Given the description of an element on the screen output the (x, y) to click on. 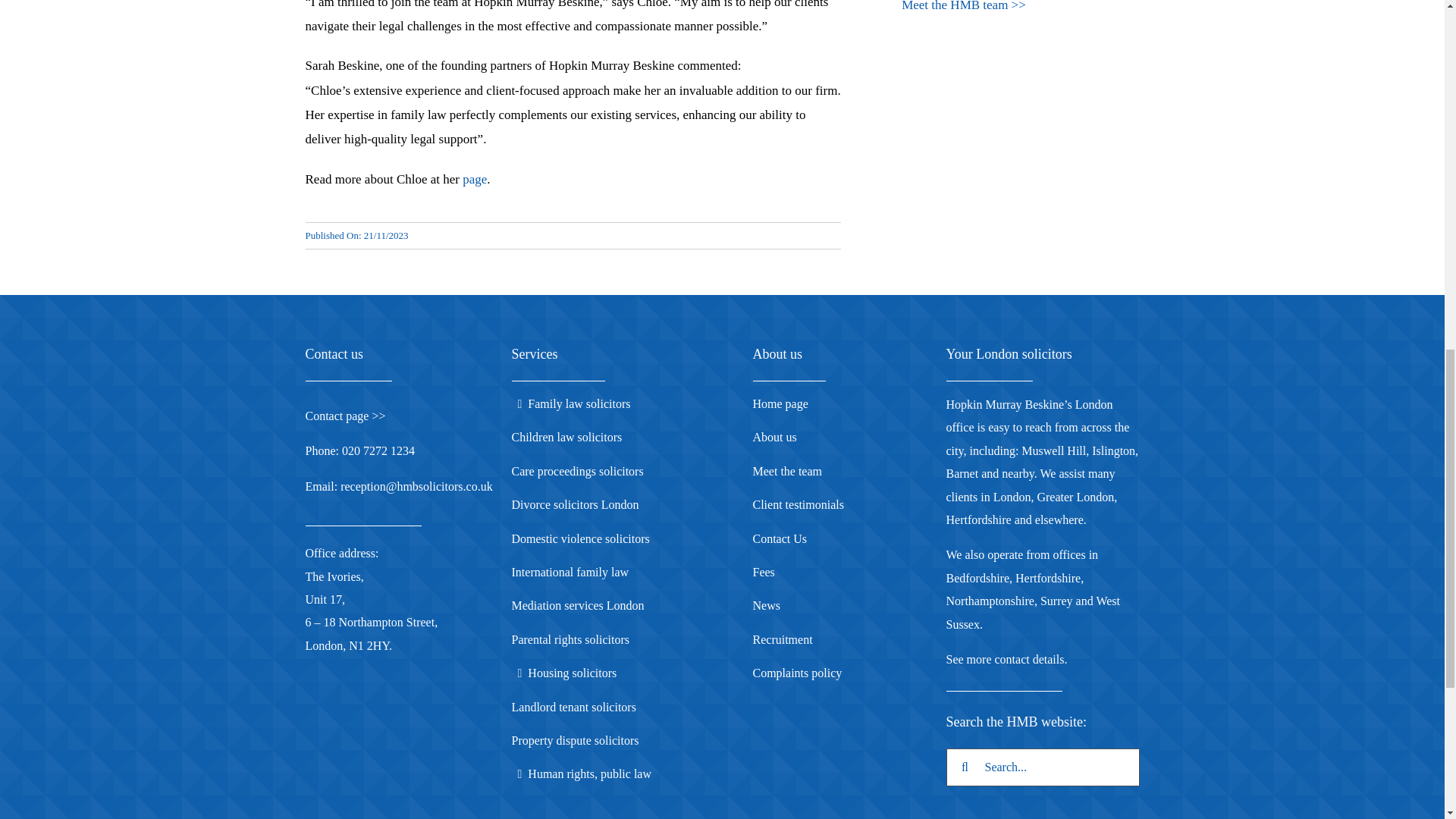
page (474, 178)
